Given the description of an element on the screen output the (x, y) to click on. 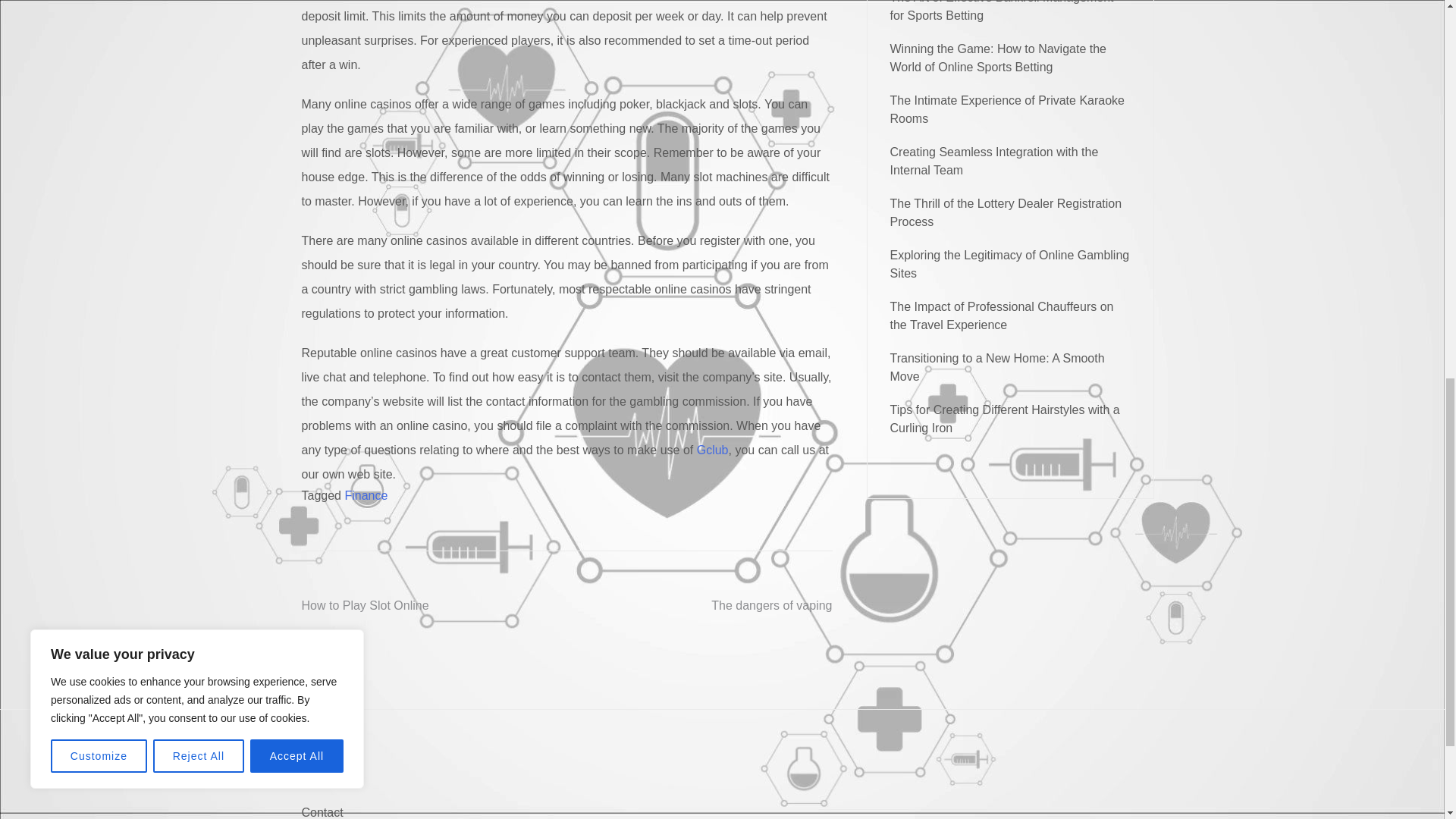
Gclub (713, 449)
How to Play Slot Online (365, 604)
The dangers of vaping (771, 604)
Finance (365, 495)
